Given the description of an element on the screen output the (x, y) to click on. 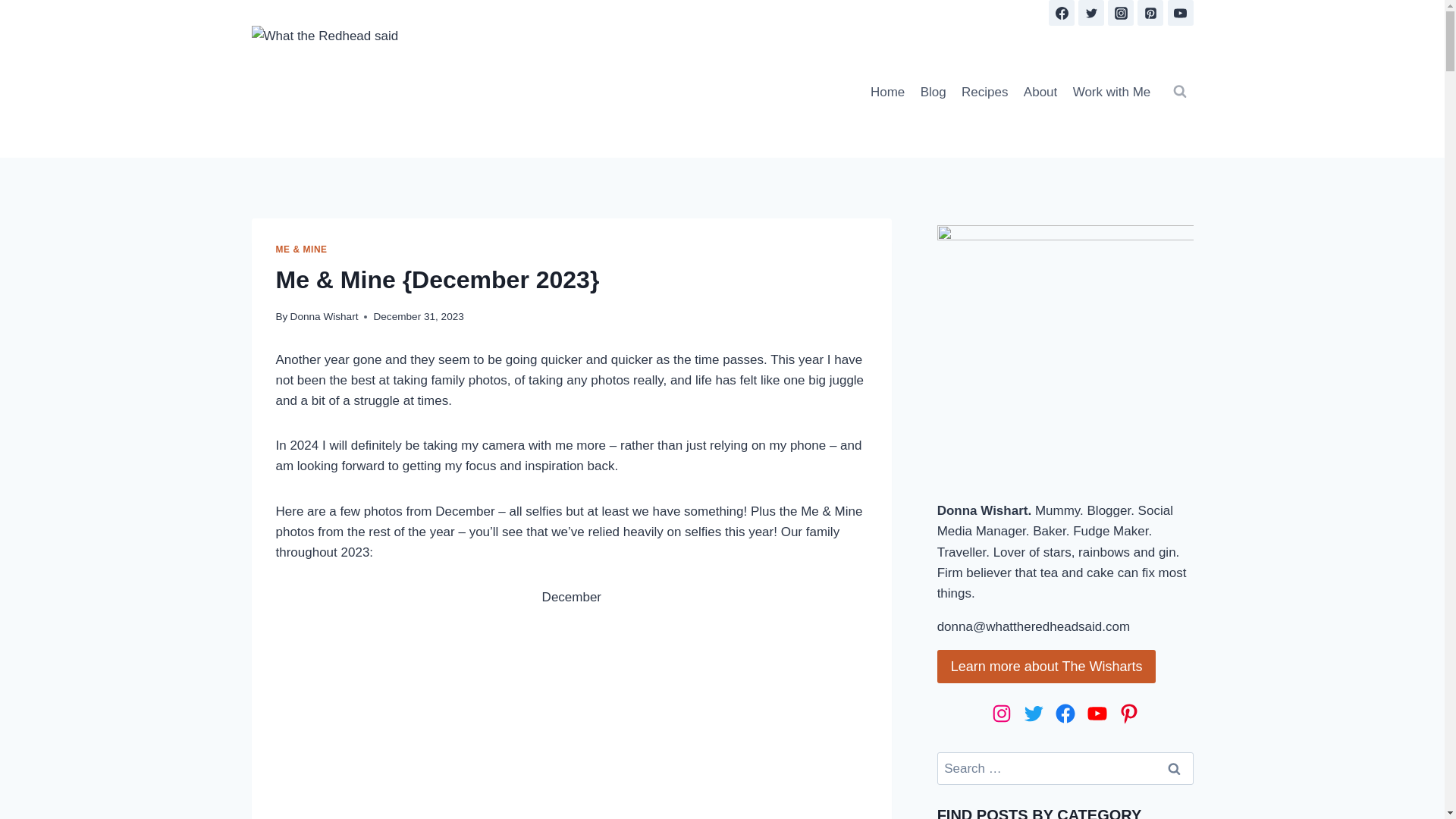
Recipes (984, 91)
About (1040, 91)
Work with Me (1110, 91)
Donna Wishart (323, 316)
Search (1174, 768)
Blog (932, 91)
Search (1174, 768)
Home (887, 91)
